Given the description of an element on the screen output the (x, y) to click on. 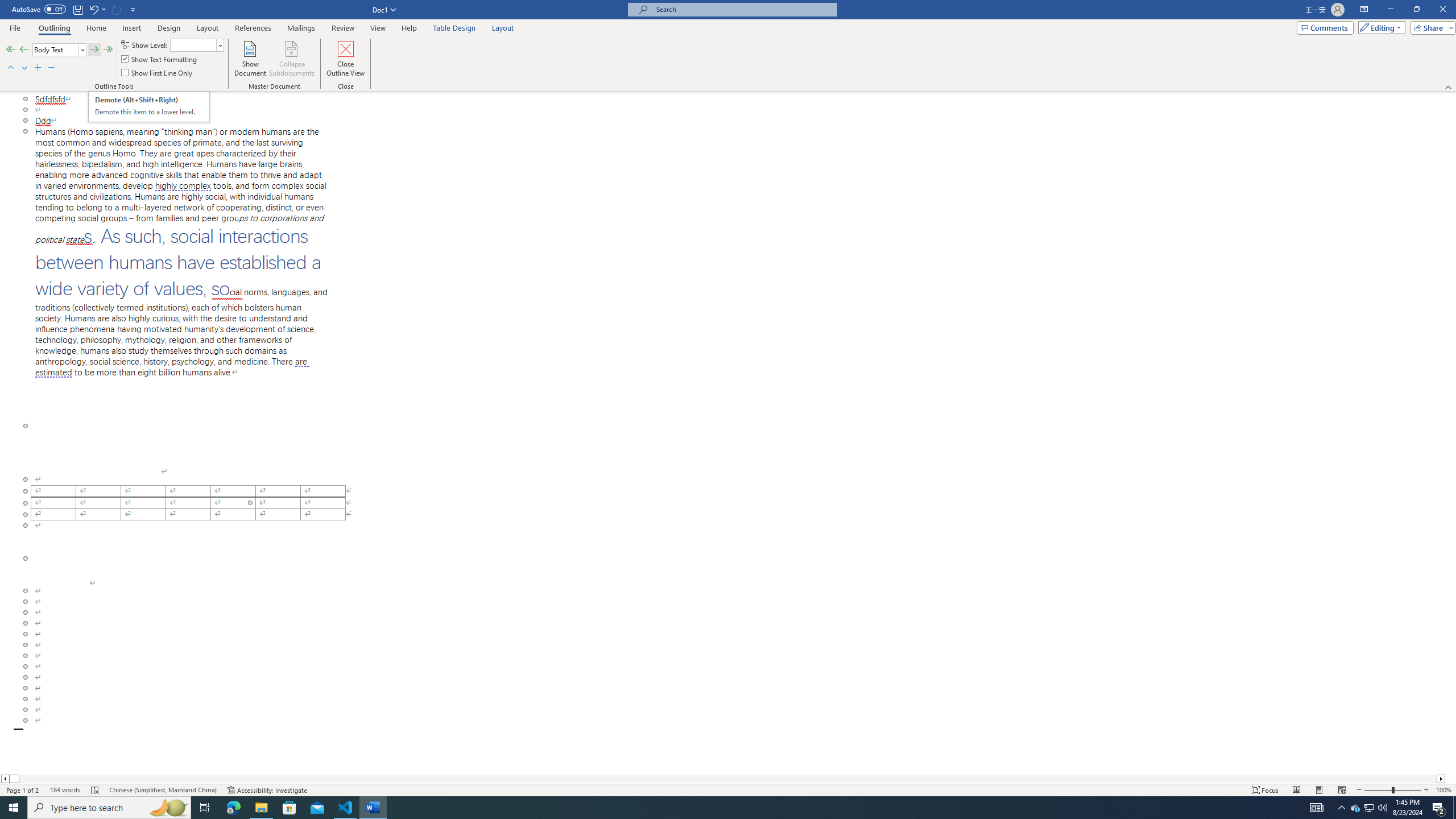
Zoom 100% (1443, 790)
Show Document (249, 58)
Promote (23, 49)
